Given the description of an element on the screen output the (x, y) to click on. 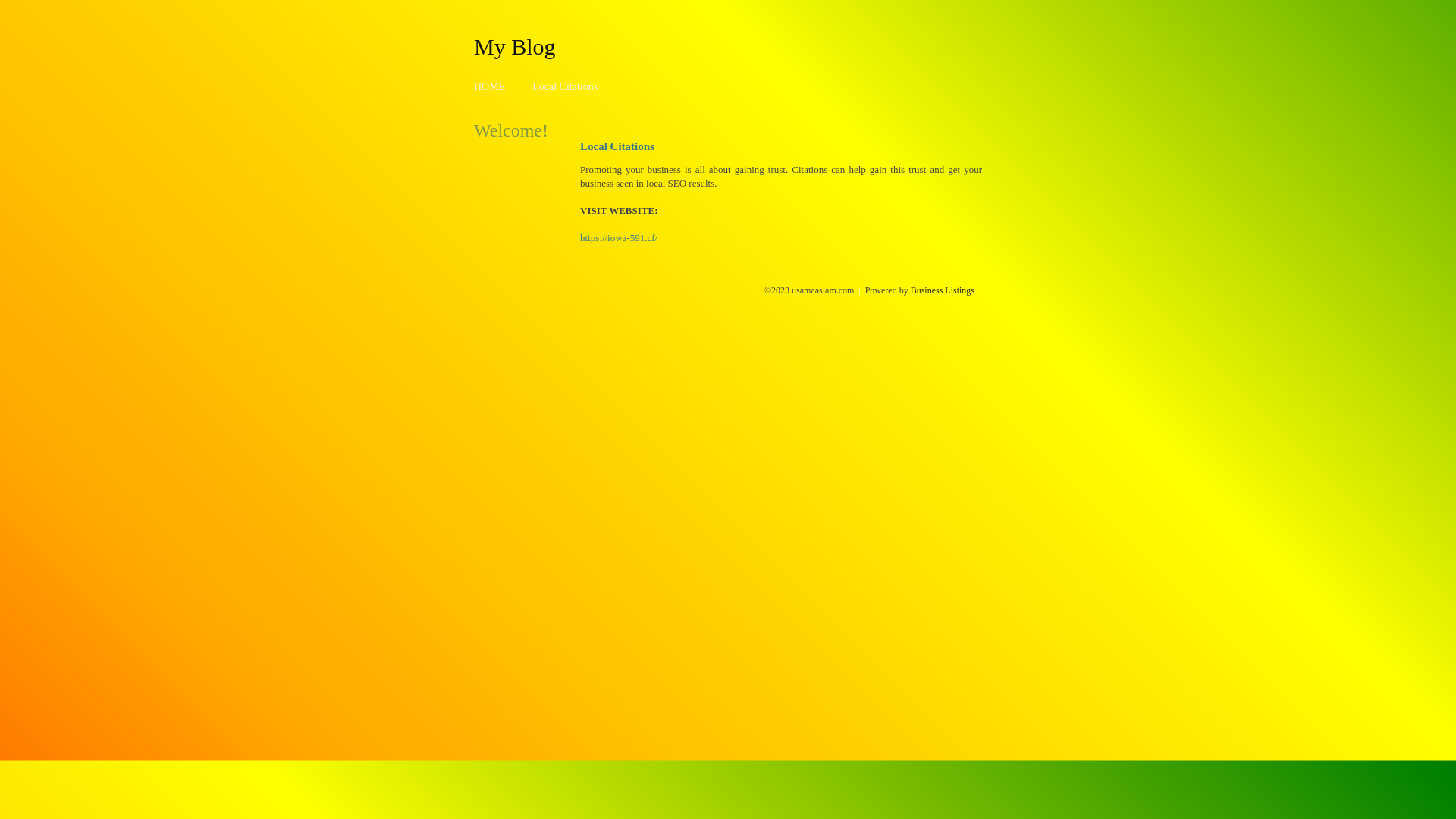
Business Listings Element type: text (942, 290)
Local Citations Element type: text (564, 86)
My Blog Element type: text (514, 46)
https://iowa-591.cf/ Element type: text (618, 237)
HOME Element type: text (489, 86)
